Given the description of an element on the screen output the (x, y) to click on. 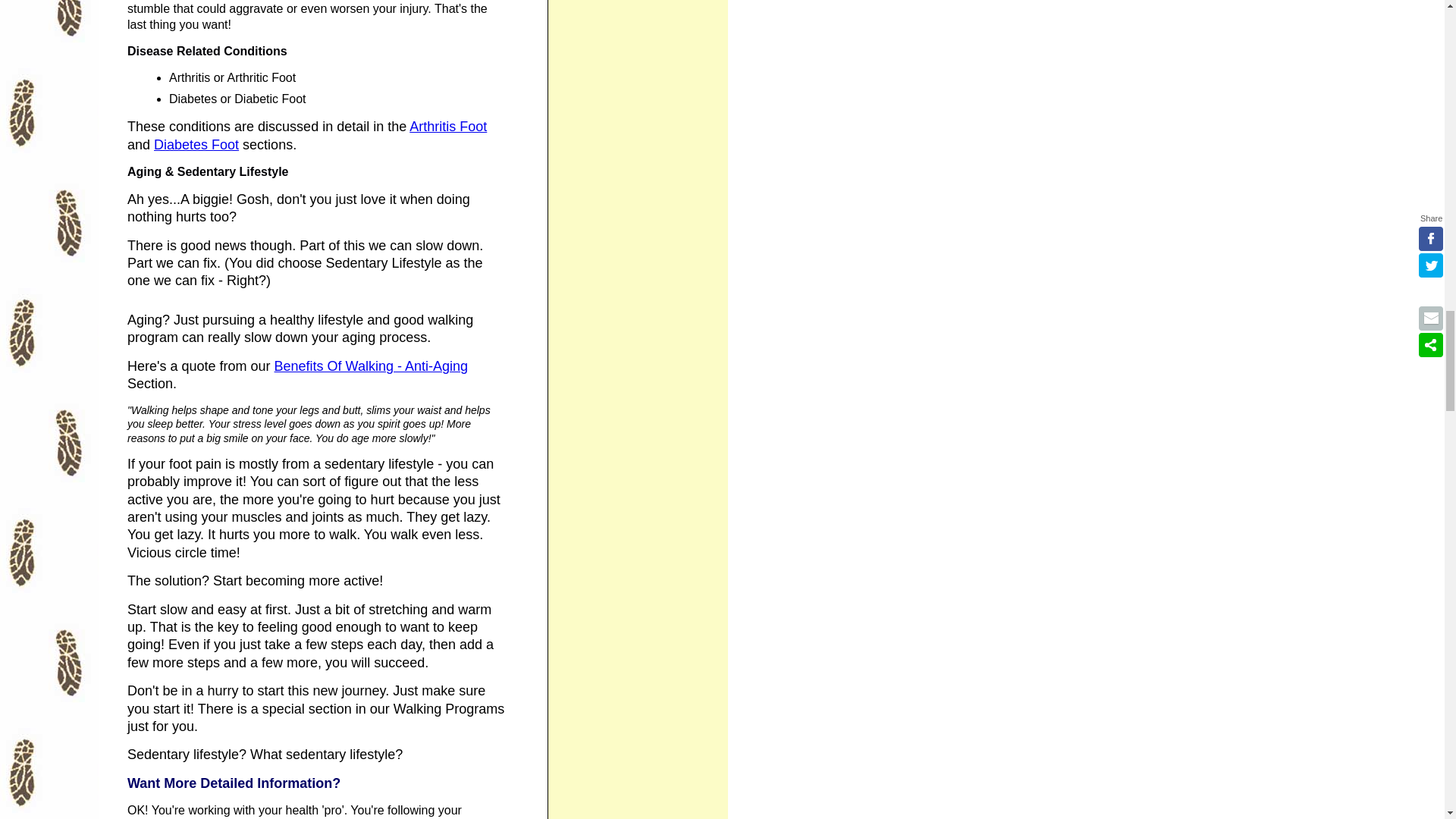
Diabetes Foot (196, 145)
Benefits Of Walking - Anti-Aging (371, 367)
Arthritis Foot (447, 127)
